Given the description of an element on the screen output the (x, y) to click on. 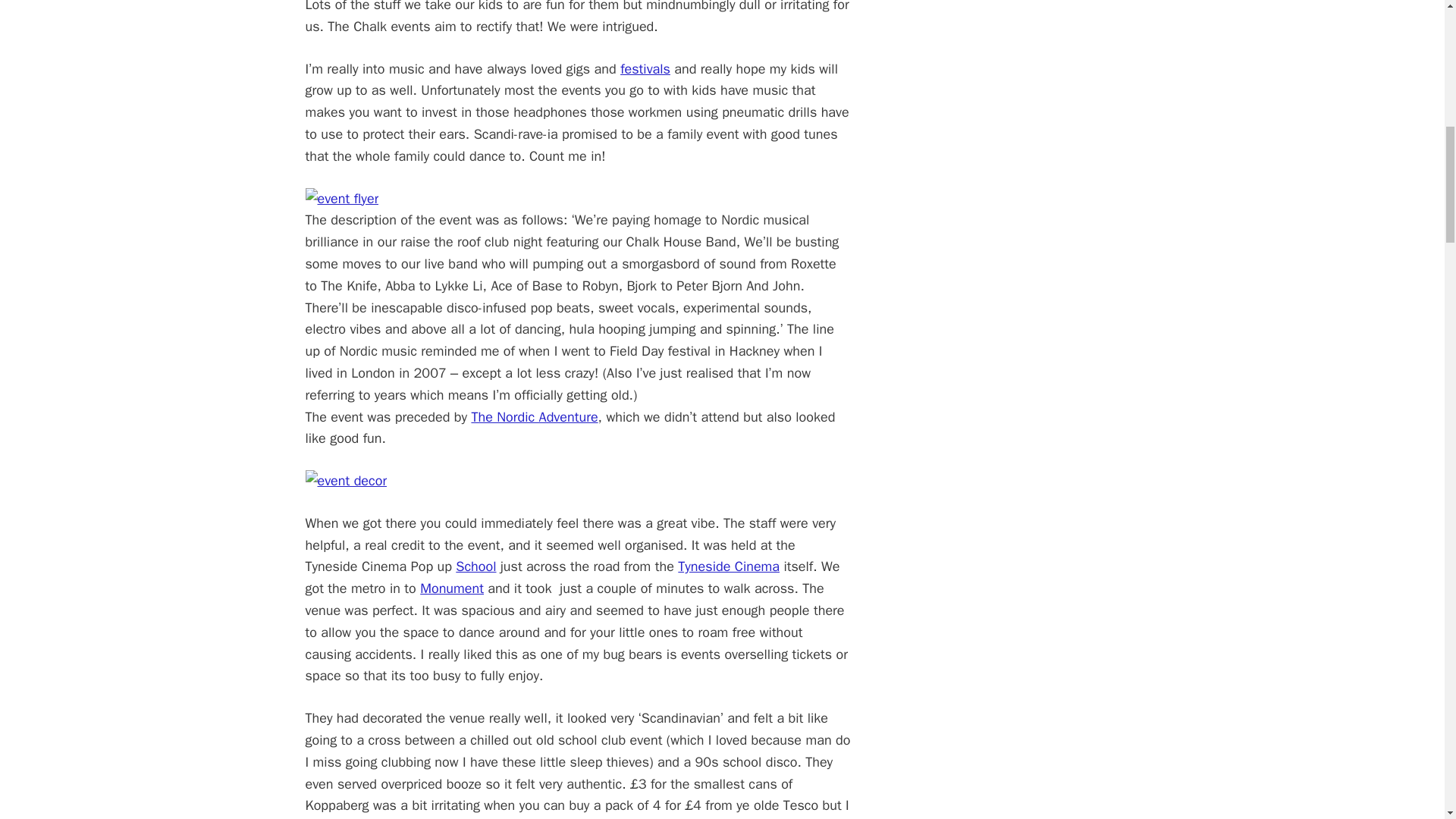
festivals (644, 68)
School (475, 565)
Tyneside Cinema (728, 565)
Monument (451, 588)
The Nordic Adventure (533, 416)
